Given the description of an element on the screen output the (x, y) to click on. 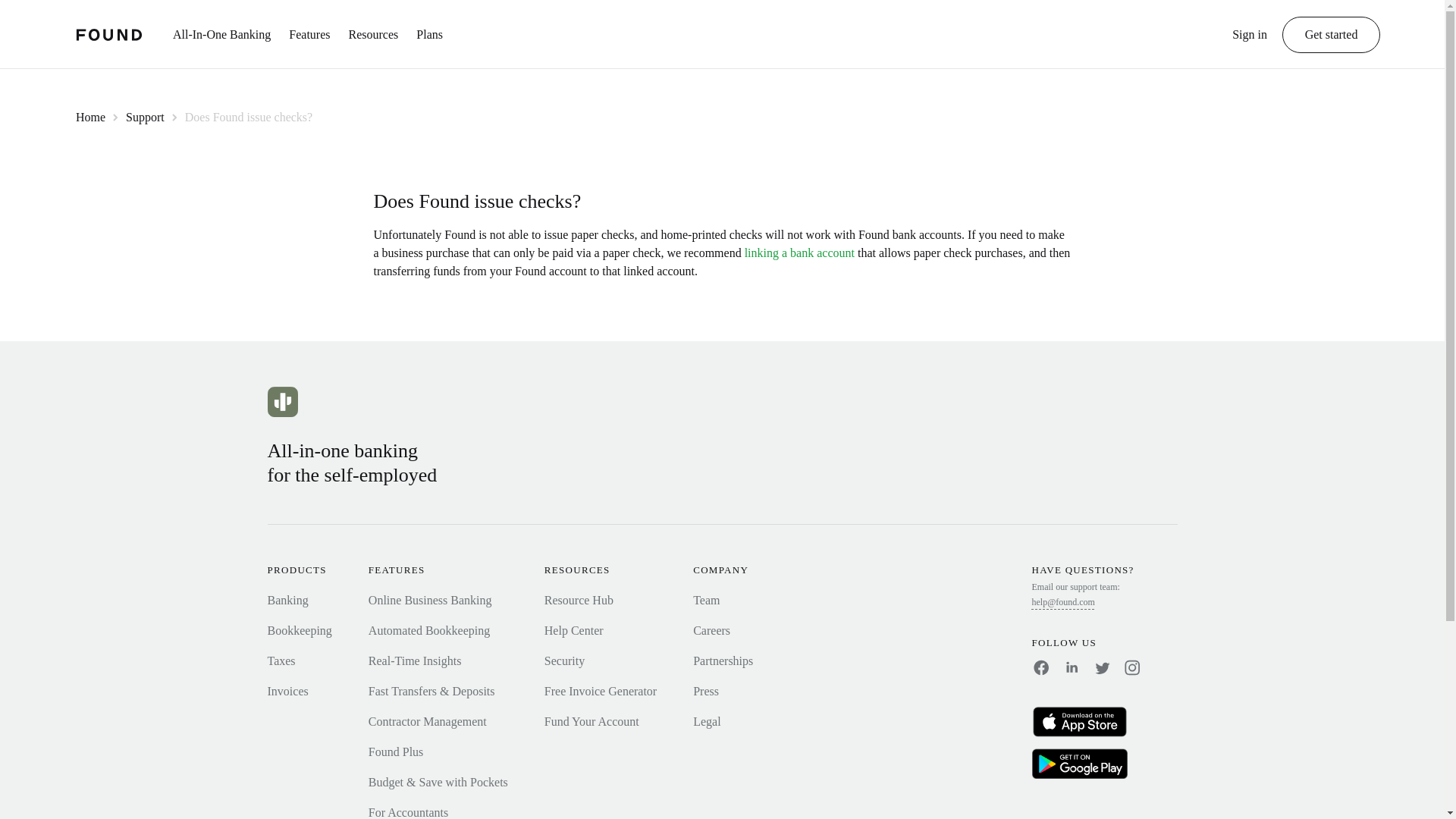
Get started (1331, 34)
Invoices (286, 690)
Team (706, 599)
Banking (286, 599)
Fund Your Account (591, 721)
Taxes (280, 660)
Help Center (574, 630)
Online Business Banking (430, 599)
All-In-One Banking (221, 41)
Security (564, 660)
